Given the description of an element on the screen output the (x, y) to click on. 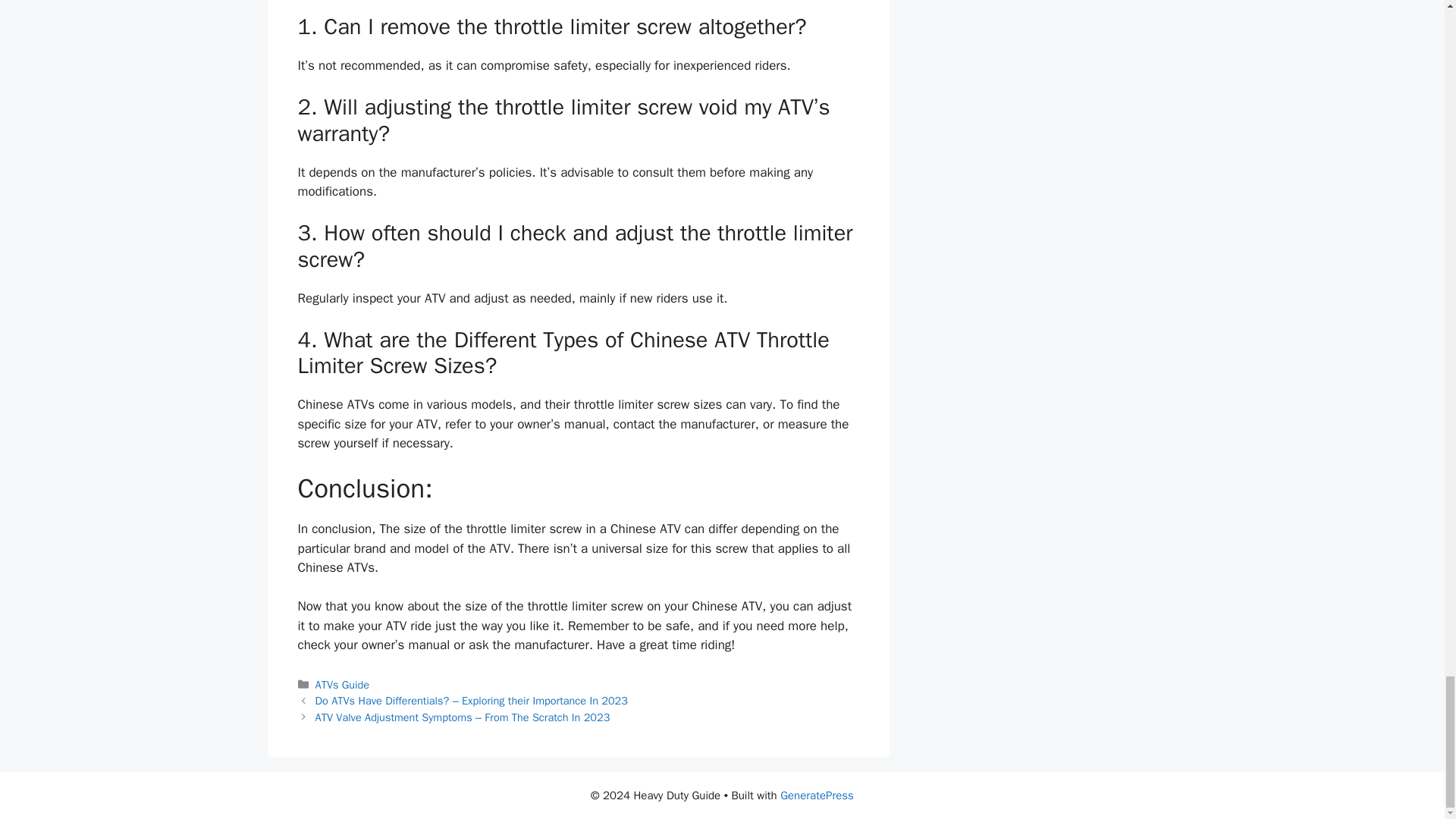
ATVs Guide (342, 684)
